Given the description of an element on the screen output the (x, y) to click on. 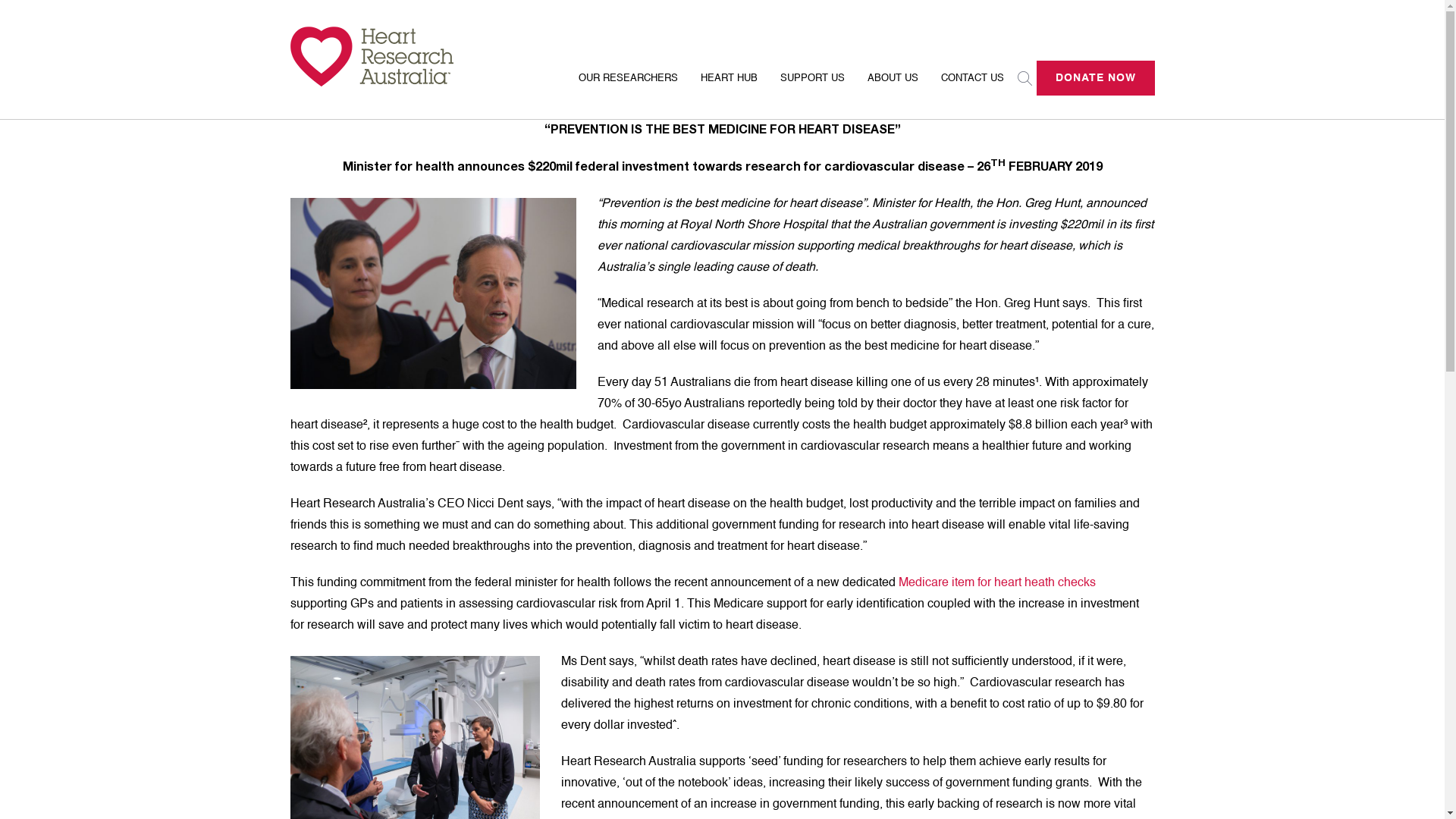
HEART HUB Element type: text (728, 88)
DONATE NOW Element type: text (1094, 77)
CONTACT US Element type: text (972, 88)
ABOUT US Element type: text (891, 88)
Medicare item for heart heath checks Element type: text (996, 583)
OUR RESEARCHERS Element type: text (628, 88)
SUPPORT US Element type: text (812, 88)
